Given the description of an element on the screen output the (x, y) to click on. 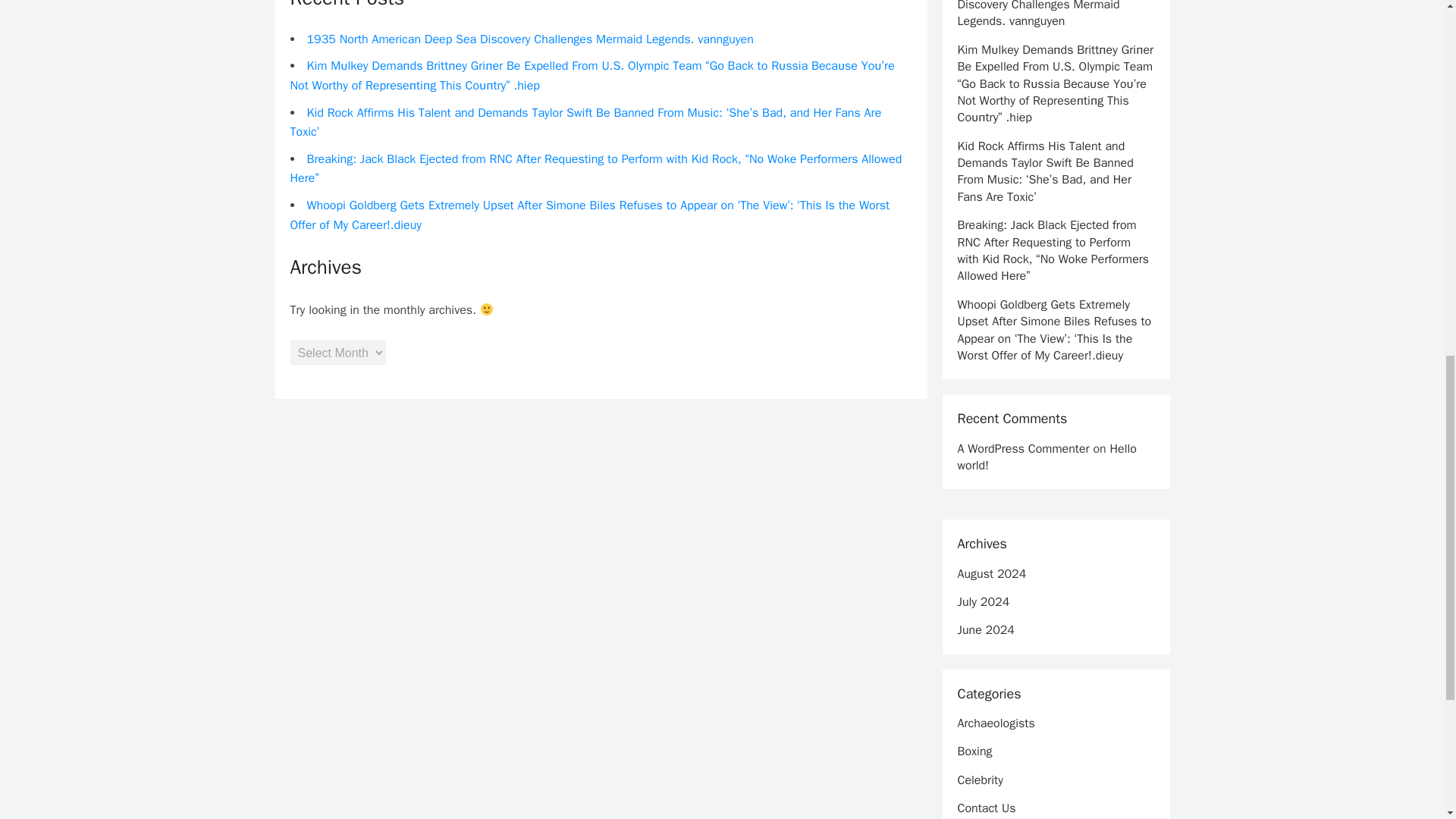
July 2024 (982, 601)
Celebrity (979, 780)
June 2024 (984, 630)
Boxing (973, 751)
Archaeologists (994, 723)
Contact Us (985, 807)
A WordPress Commenter (1022, 448)
Hello world! (1045, 457)
August 2024 (991, 573)
